Given the description of an element on the screen output the (x, y) to click on. 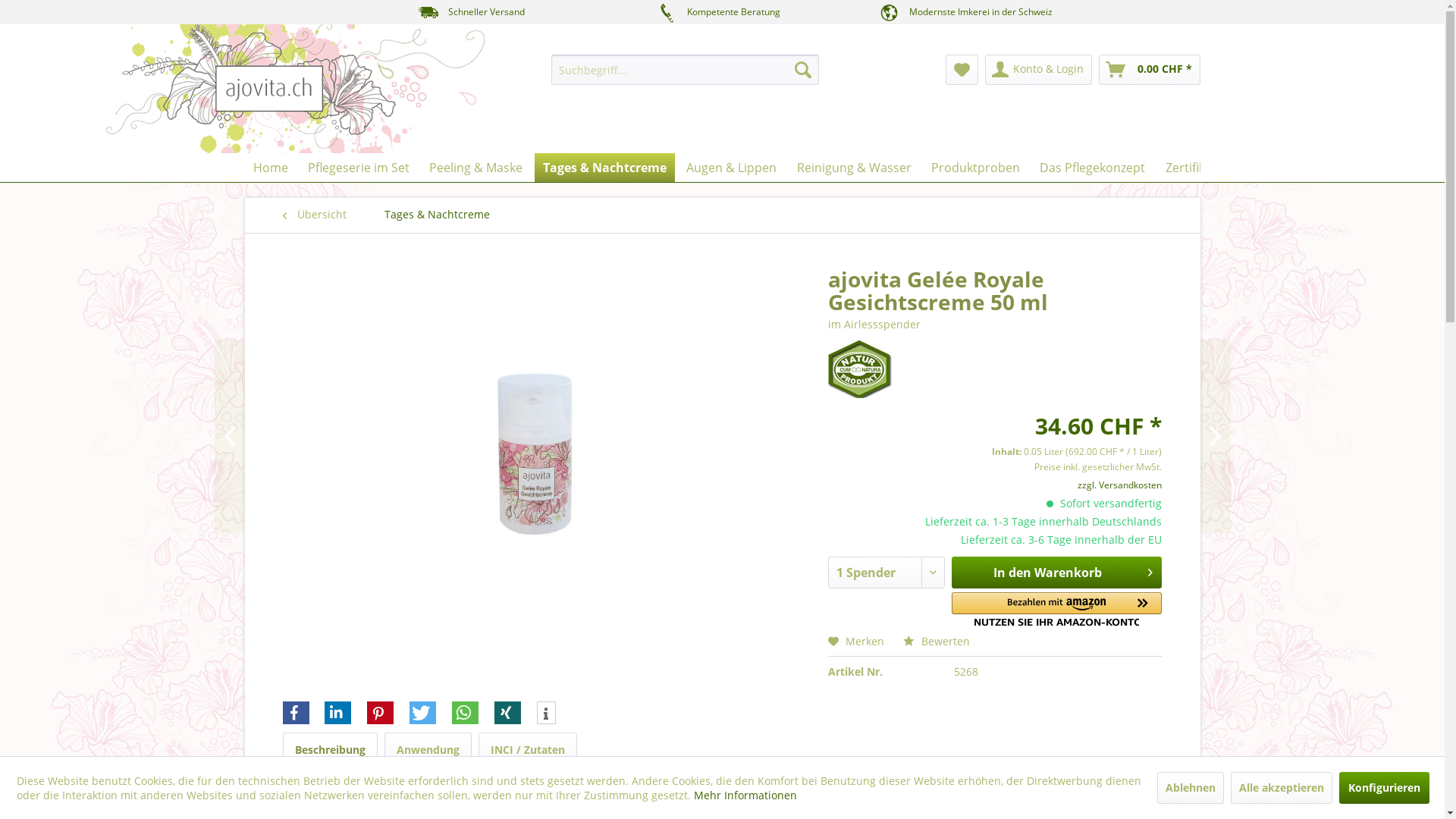
Bewerten Element type: text (936, 640)
Home Element type: text (269, 167)
Bei XING teilen Element type: hover (507, 712)
Reinigung & Wasser Element type: text (853, 167)
In den Warenkorb Element type: text (1056, 572)
Bei Facebook teilen Element type: hover (295, 712)
Weitere Informationen Element type: hover (546, 713)
Zertifikat Element type: text (1190, 167)
Bei Whatsapp teilen Element type: hover (464, 712)
Augen & Lippen Element type: text (730, 167)
Bei Pinterest pinnen Element type: hover (380, 712)
Konto & Login Element type: text (1037, 69)
Pflegeserie im Set Element type: text (358, 167)
5 ml Honig Gesichtscreme Element type: hover (304, 436)
Alle akzeptieren Element type: text (1280, 787)
zzgl. Versandkosten Element type: text (1119, 484)
Ablehnen Element type: text (1190, 787)
0.00 CHF * Element type: text (1148, 69)
Tages & Nachtcreme Element type: text (604, 167)
Beschreibung Element type: text (329, 749)
INCI / Zutaten Element type: text (526, 749)
Peeling & Maske Element type: text (475, 167)
Bei Twitter teilen Element type: hover (422, 712)
Das Pflegekonzept Element type: text (1092, 167)
Bei LinkedIn teilen Element type: hover (337, 712)
Anwendung Element type: text (426, 749)
ajovita Propolis Gesichtscreme 50 ml Element type: hover (1139, 436)
Merken Element type: text (856, 640)
Tages & Nachtcreme Element type: text (436, 214)
Konfigurieren Element type: text (1384, 787)
Produktproben Element type: text (975, 167)
Mehr Informationen Element type: text (745, 794)
Merkzettel Element type: hover (960, 69)
